Given the description of an element on the screen output the (x, y) to click on. 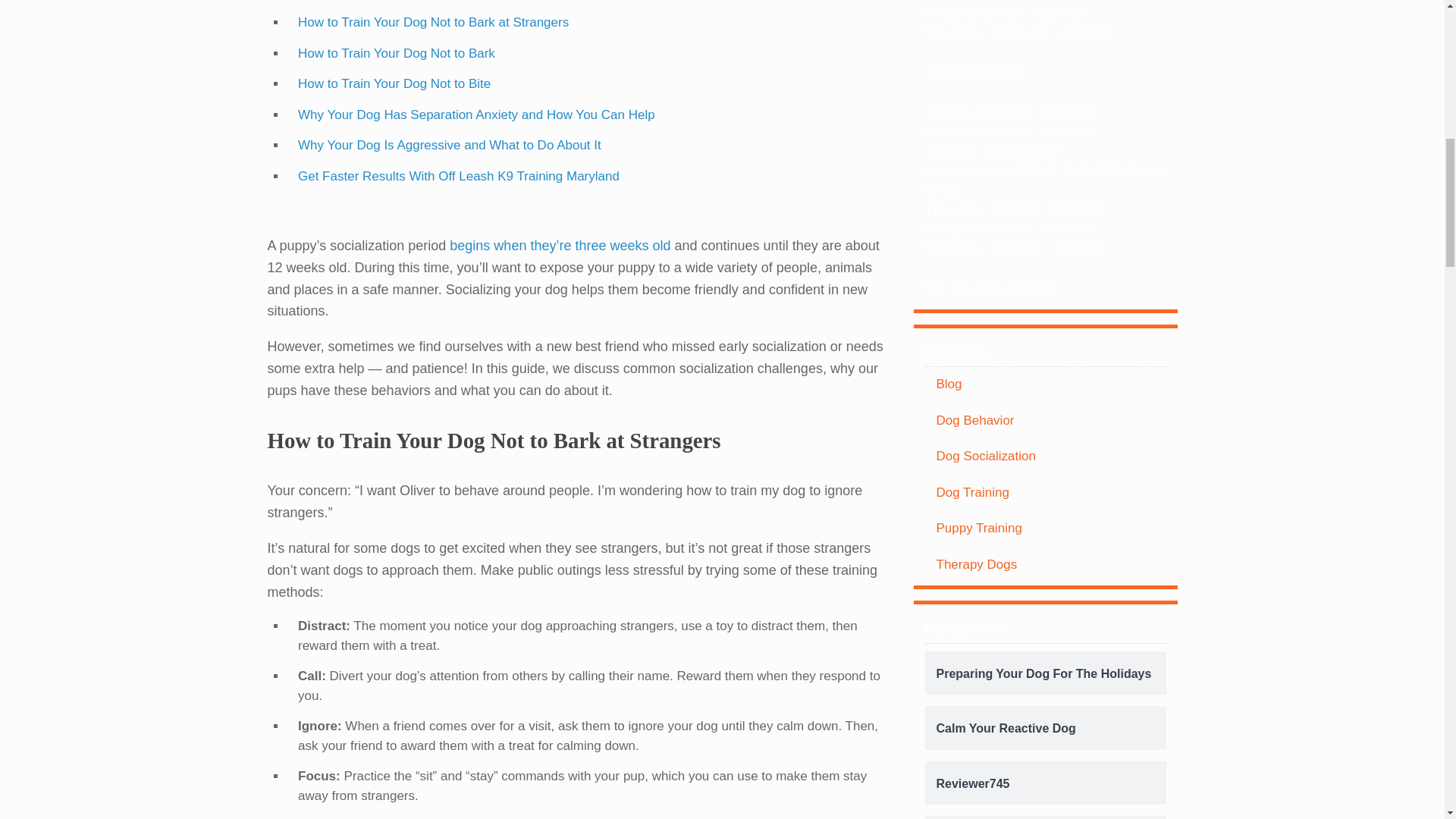
How to Train Your Dog Not to Bark (396, 52)
Why Your Dog Has Separation Anxiety and How You Can Help (476, 114)
How to Train Your Dog Not to Bite (394, 83)
How to Train Your Dog Not to Bark at Strangers (433, 22)
